Given the description of an element on the screen output the (x, y) to click on. 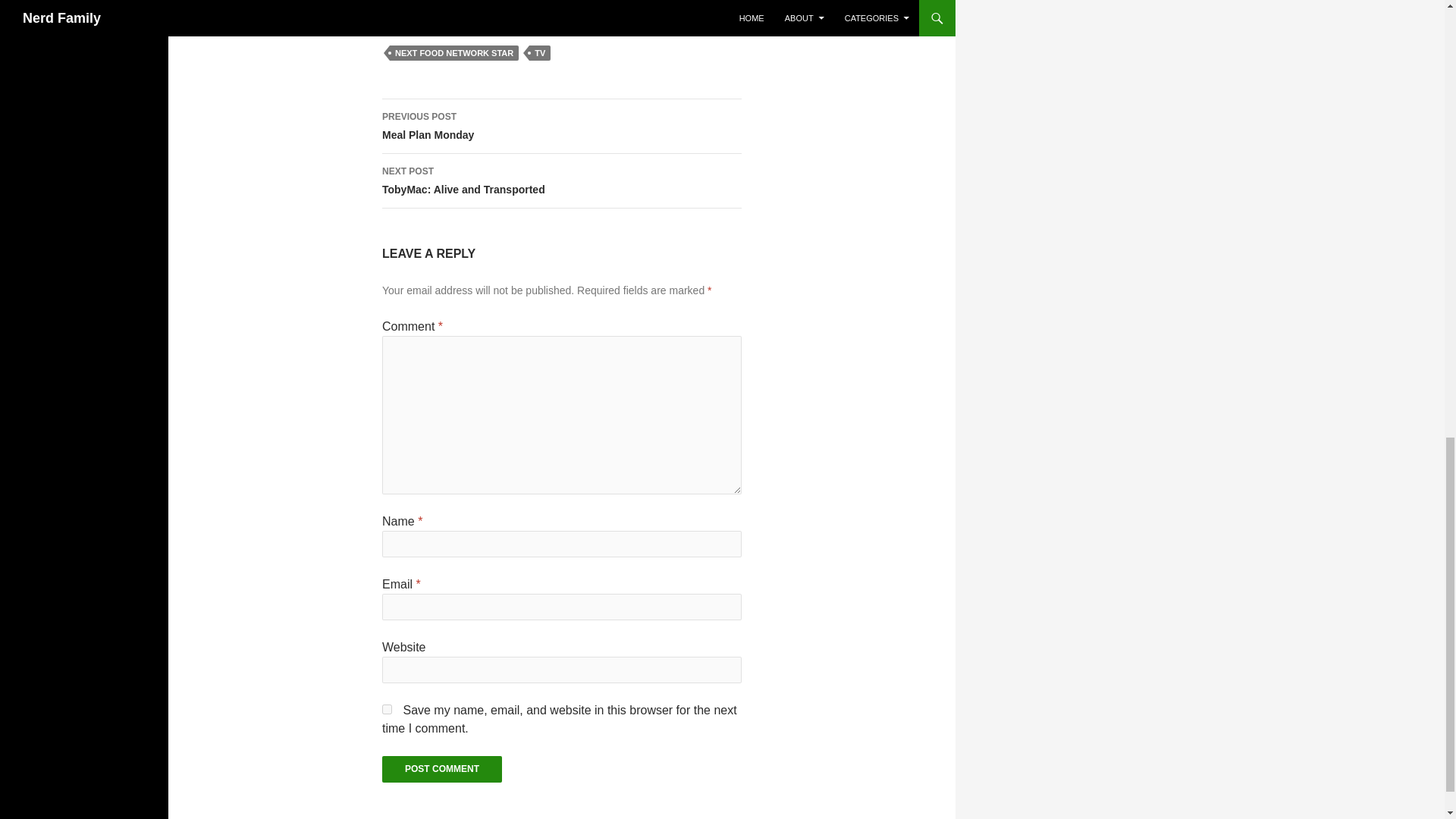
yes (386, 709)
Post Comment (441, 768)
NEXT FOOD NETWORK STAR (454, 52)
Post Comment (561, 126)
TV (441, 768)
